Given the description of an element on the screen output the (x, y) to click on. 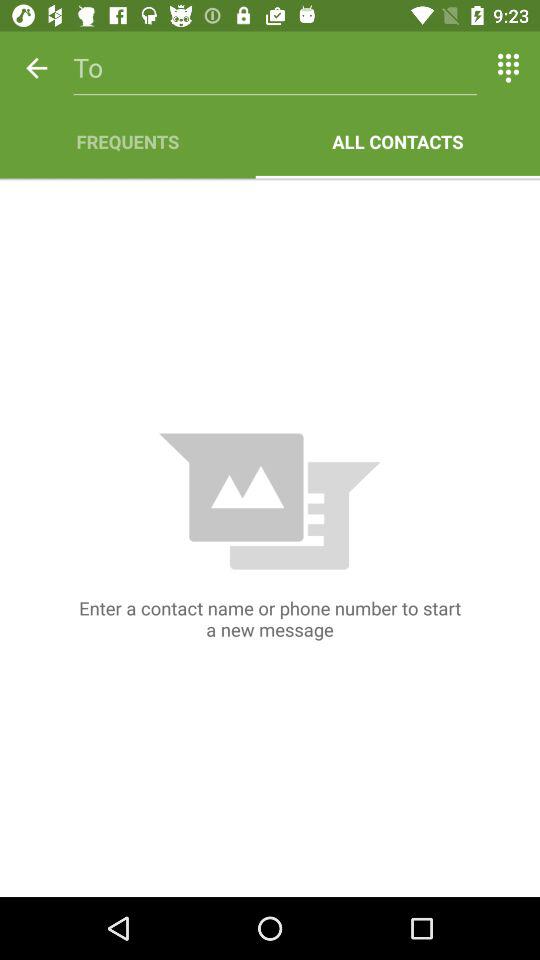
select icon above frequents (36, 68)
